Given the description of an element on the screen output the (x, y) to click on. 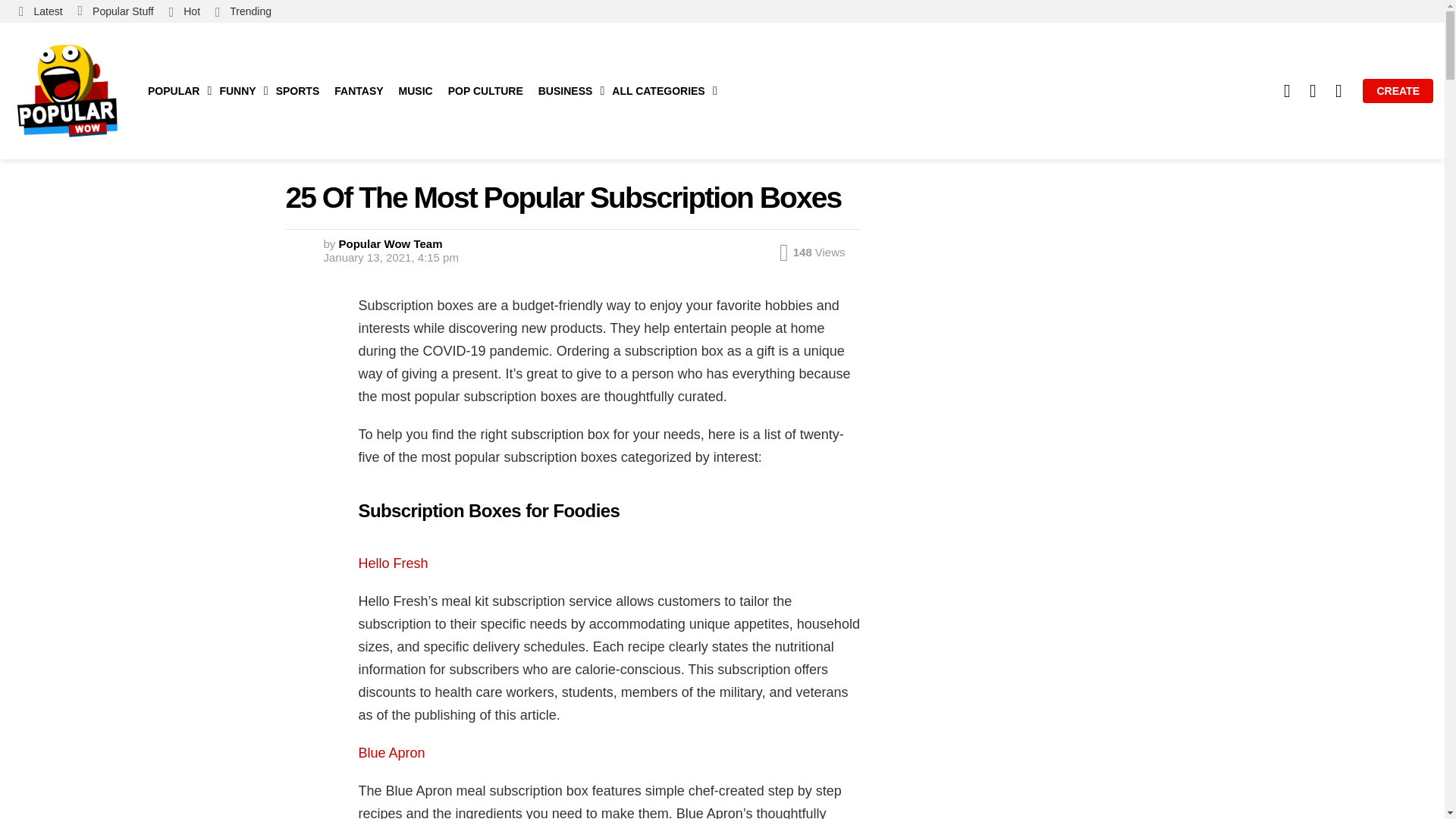
POPULAR (175, 90)
CREATE (1397, 90)
Posts by Popular Wow Team (390, 243)
FUNNY (239, 90)
POP CULTURE (486, 90)
SPORTS (297, 90)
Hot (184, 10)
ALL CATEGORIES (660, 90)
BUSINESS (568, 90)
MUSIC (416, 90)
FANTASY (358, 90)
Trending (243, 10)
Popular Wow Team (390, 243)
Latest (40, 10)
Popular Stuff (115, 10)
